Given the description of an element on the screen output the (x, y) to click on. 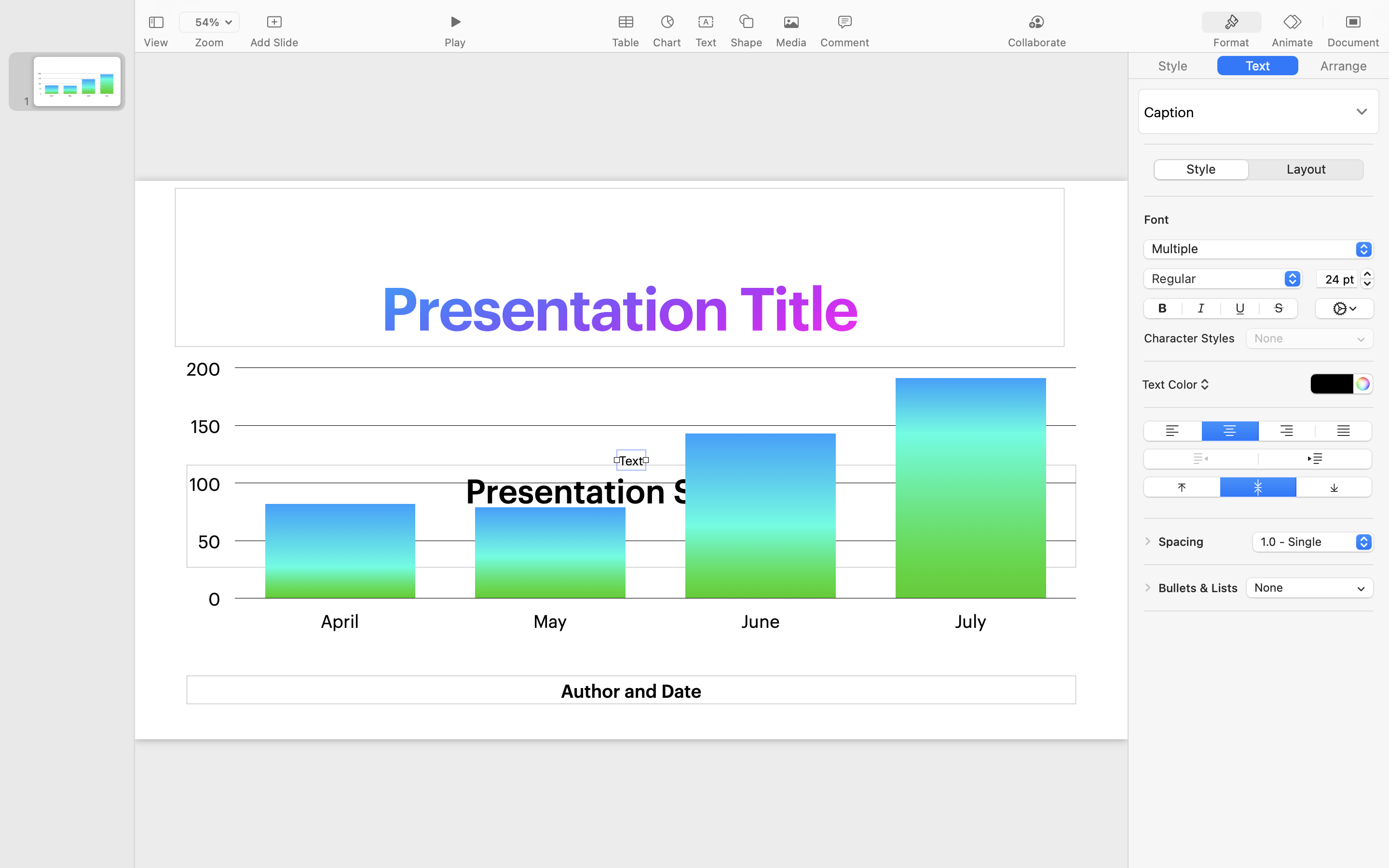
Media Element type: AXStaticText (790, 42)
Spacing Element type: AXStaticText (1180, 541)
Bullets & Lists Element type: AXStaticText (1197, 587)
Zoom Element type: AXStaticText (208, 42)
